Given the description of an element on the screen output the (x, y) to click on. 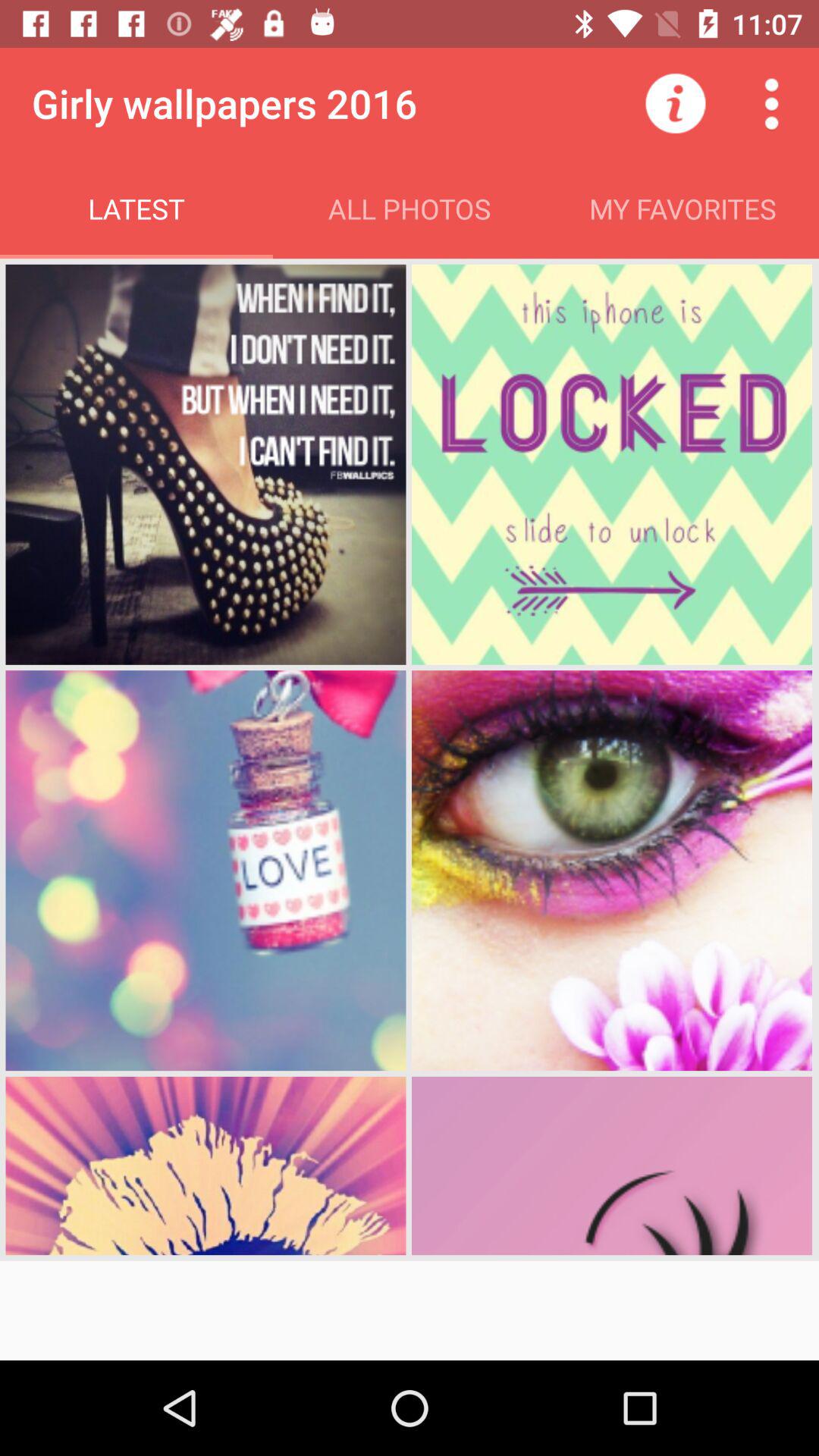
choose the item above the my favorites icon (771, 103)
